Given the description of an element on the screen output the (x, y) to click on. 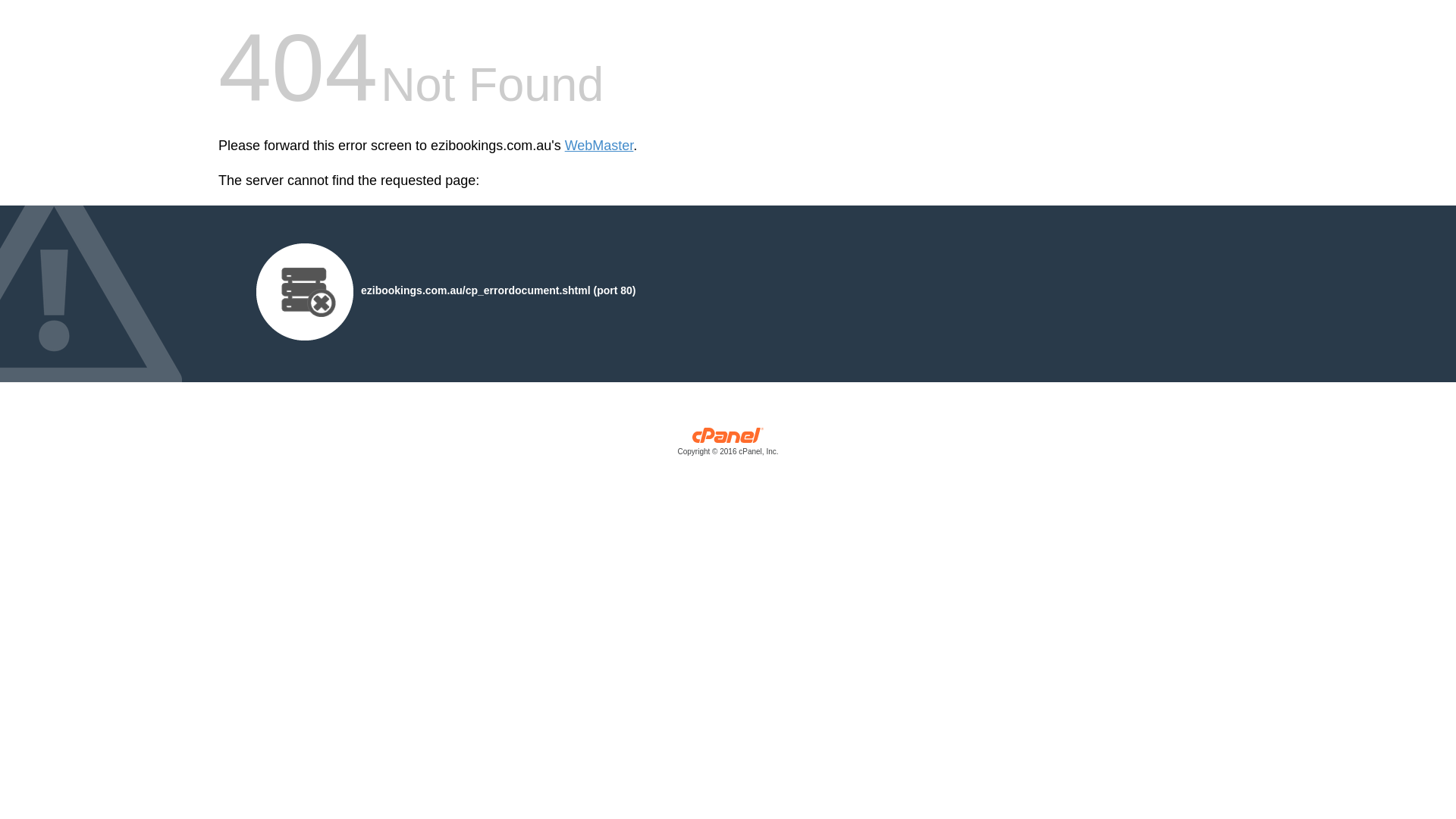
WebMaster Element type: text (598, 145)
